Given the description of an element on the screen output the (x, y) to click on. 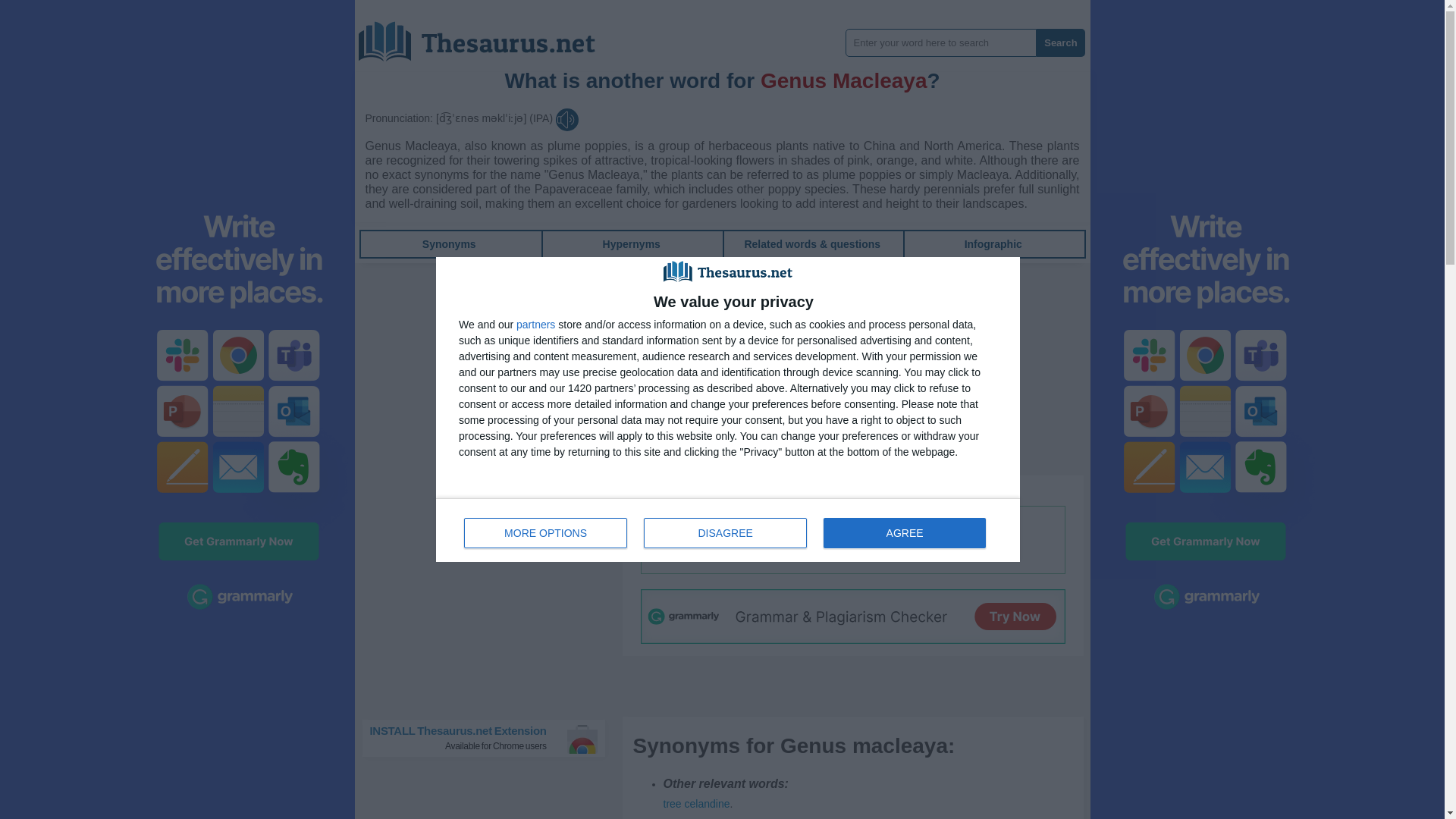
Hypernyms (631, 244)
DISAGREE (724, 532)
Infographic (992, 244)
MORE OPTIONS (545, 532)
tree celandine (695, 803)
Thesaurus.net (487, 35)
click here (875, 490)
AGREE (904, 532)
Search (1060, 42)
Synonyms for Genus macleaya (695, 803)
